Given the description of an element on the screen output the (x, y) to click on. 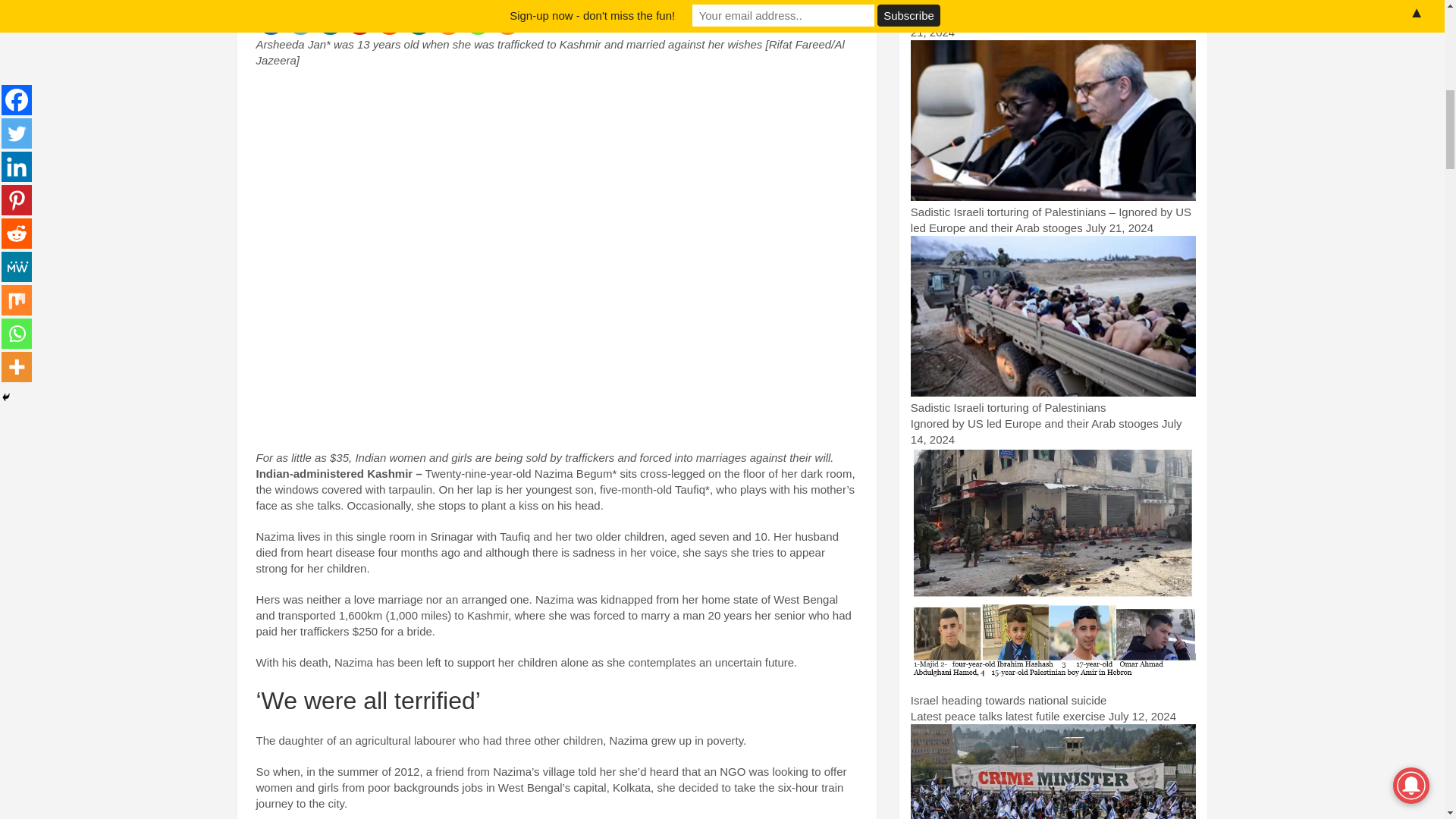
Whatsapp (477, 21)
Linkedin (330, 21)
Pinterest (359, 21)
Twitter (299, 21)
More (508, 21)
Reddit (389, 21)
MeWe (417, 21)
Facebook (270, 21)
Mix (448, 21)
